Given the description of an element on the screen output the (x, y) to click on. 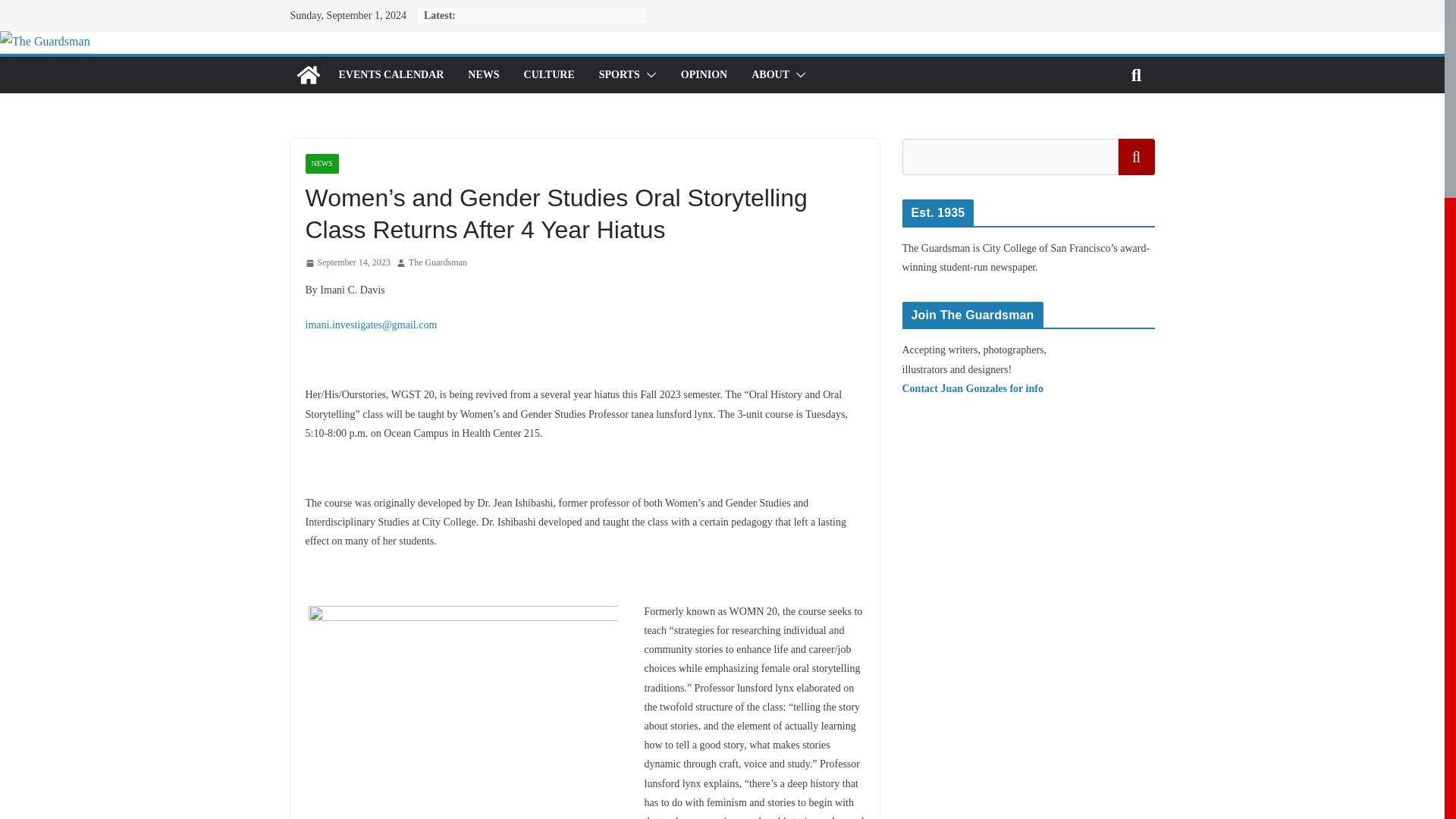
CULTURE (549, 74)
The Guardsman (438, 262)
EVENTS CALENDAR (390, 74)
The Guardsman (45, 41)
SPORTS (619, 74)
NEWS (483, 74)
September 14, 2023 (347, 262)
Search (1136, 156)
OPINION (703, 74)
ABOUT (770, 74)
